Given the description of an element on the screen output the (x, y) to click on. 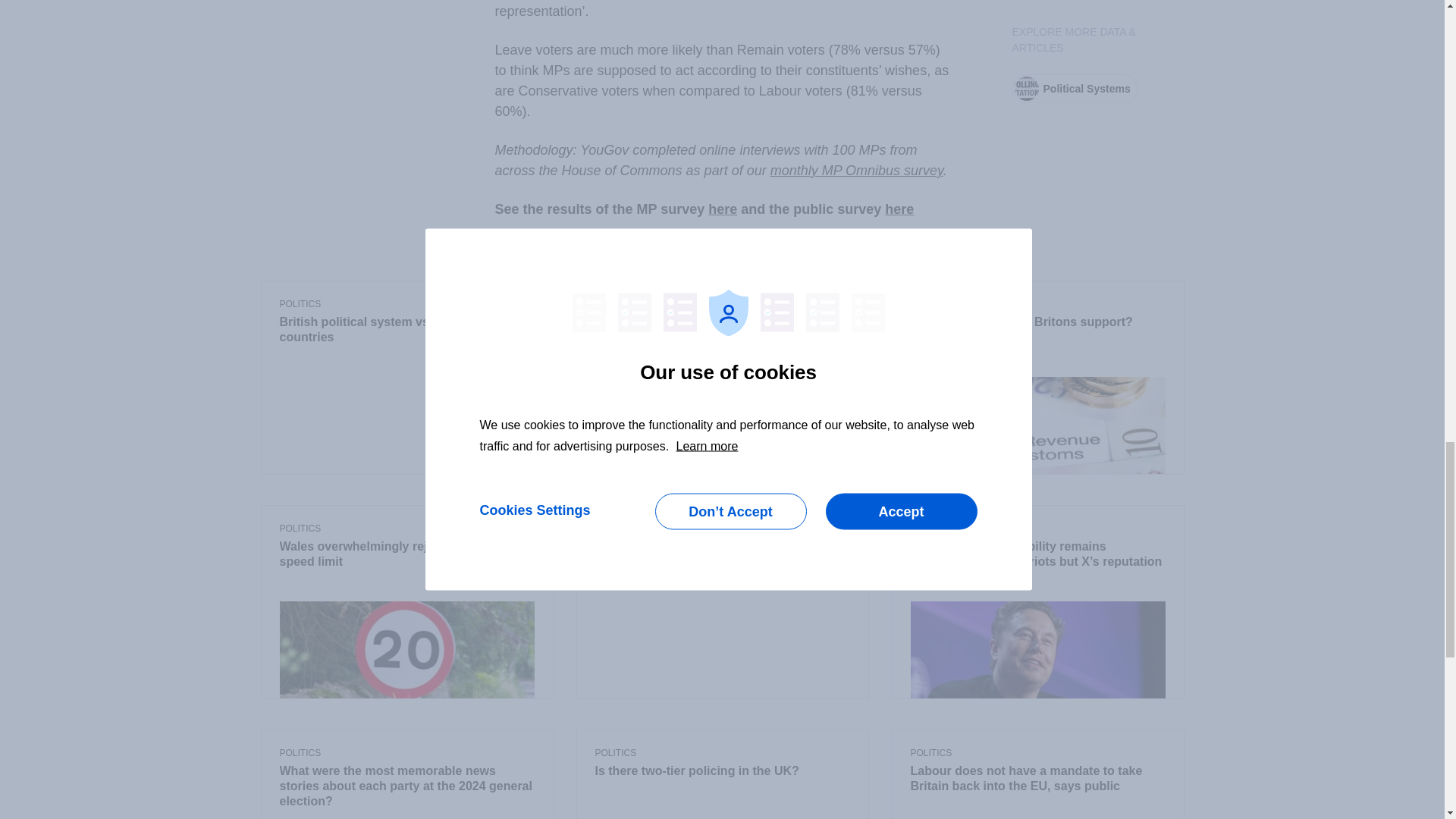
British political system vs European countries (406, 330)
What tax rises would Britons support? (1037, 322)
How well does Britain's political system work? (721, 330)
Is there two-tier policing in the UK? (721, 771)
Wales overwhelmingly rejects the 20mph speed limit (406, 554)
John Humphrys - The Green Belt: to build or not to build? (721, 554)
